Given the description of an element on the screen output the (x, y) to click on. 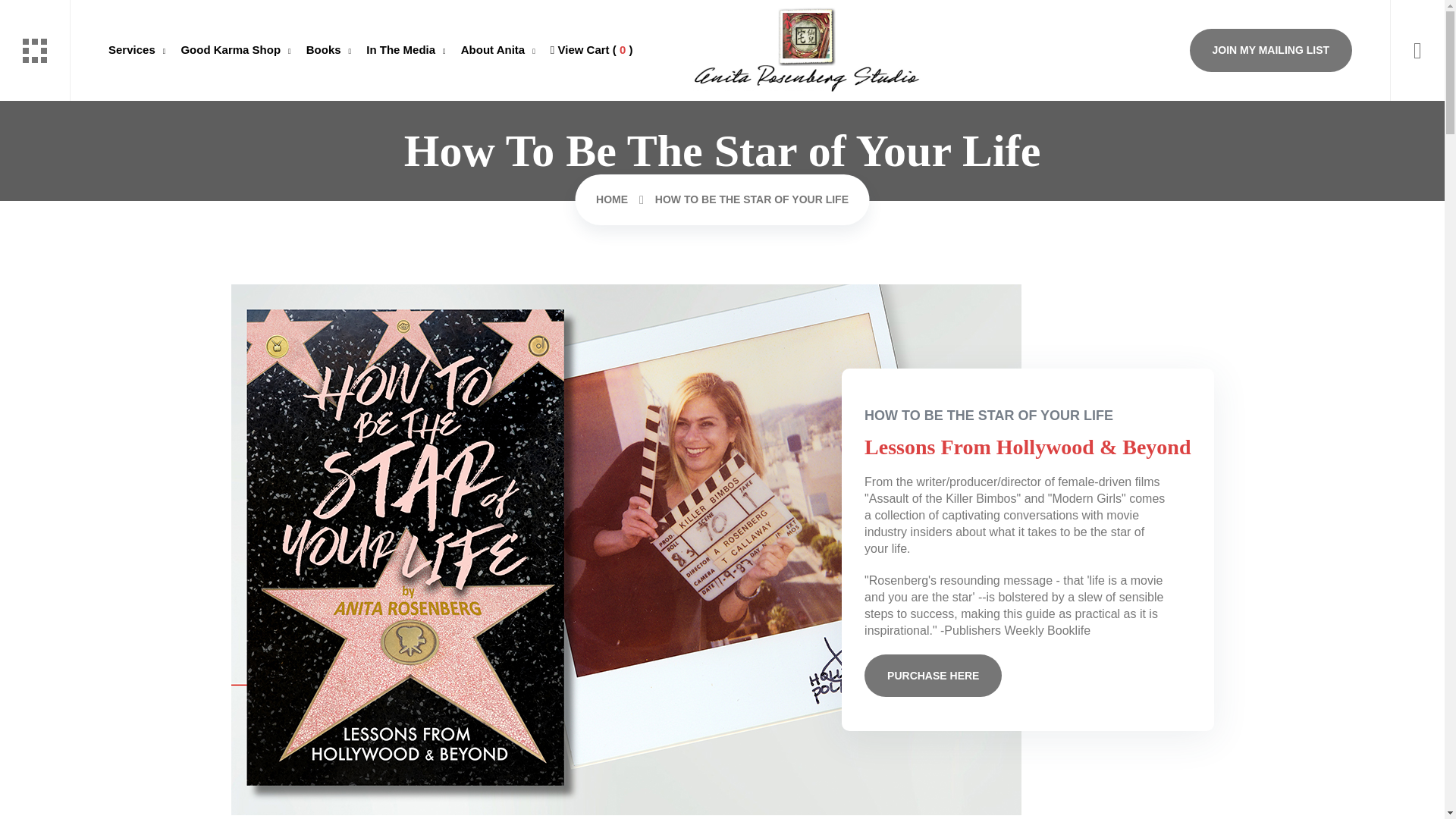
Good Karma Shop (235, 50)
Services (140, 50)
